Given the description of an element on the screen output the (x, y) to click on. 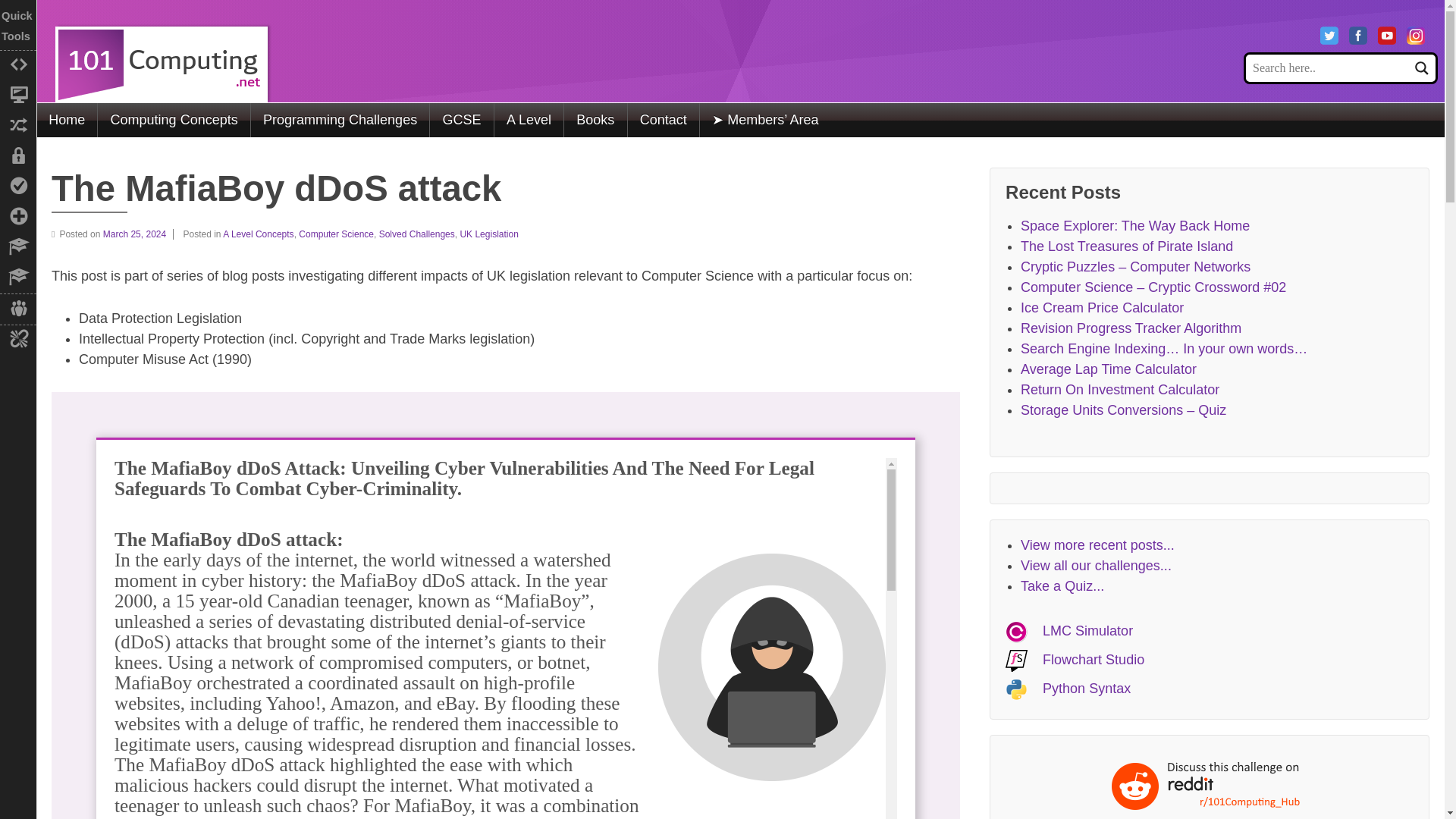
A Level (528, 120)
Computing Concepts (172, 120)
The MafiaBoy dDoS attack (138, 234)
Programming Challenges (339, 120)
Home (66, 120)
GCSE (461, 120)
